Given the description of an element on the screen output the (x, y) to click on. 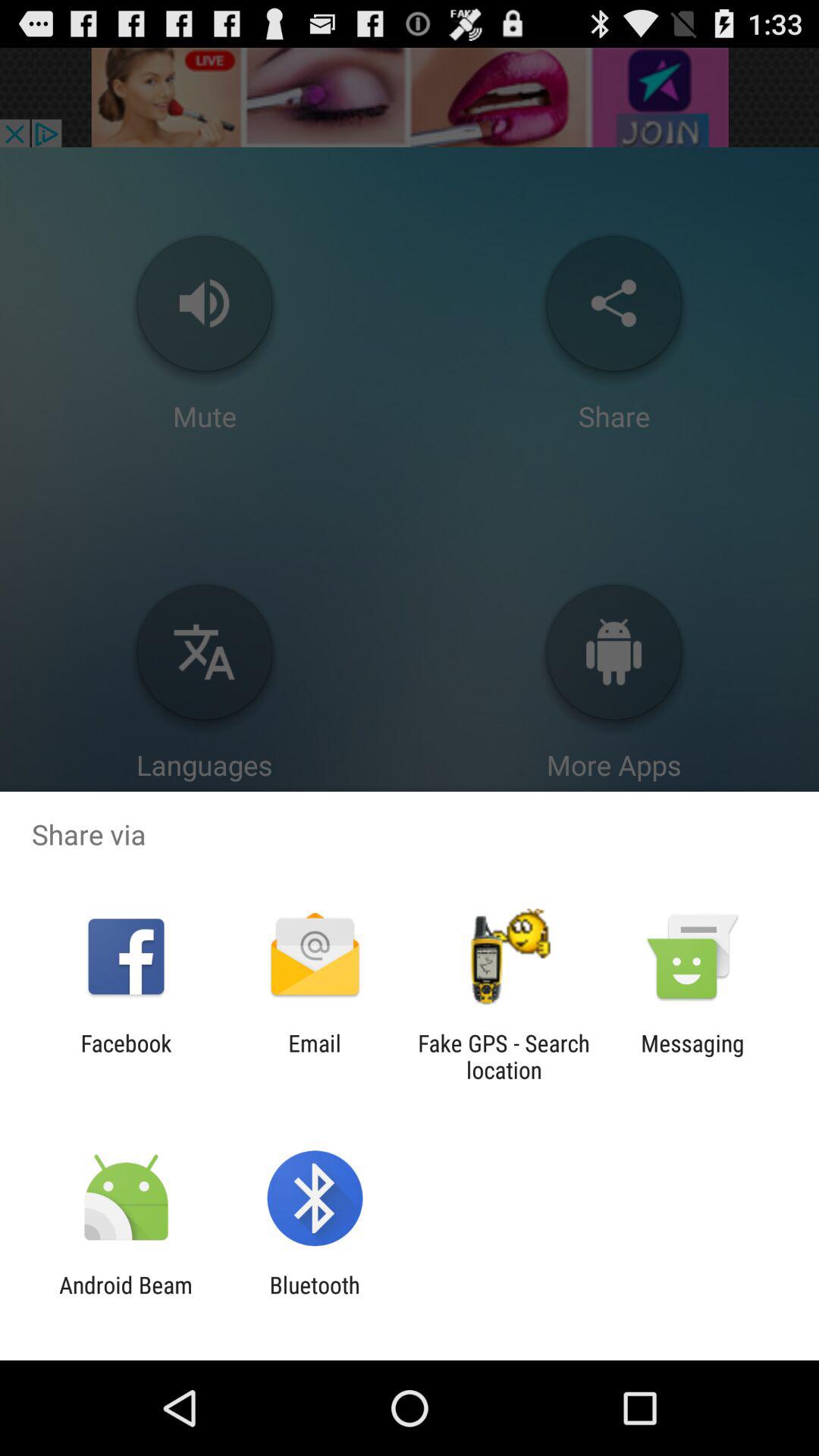
tap app next to android beam item (314, 1298)
